Given the description of an element on the screen output the (x, y) to click on. 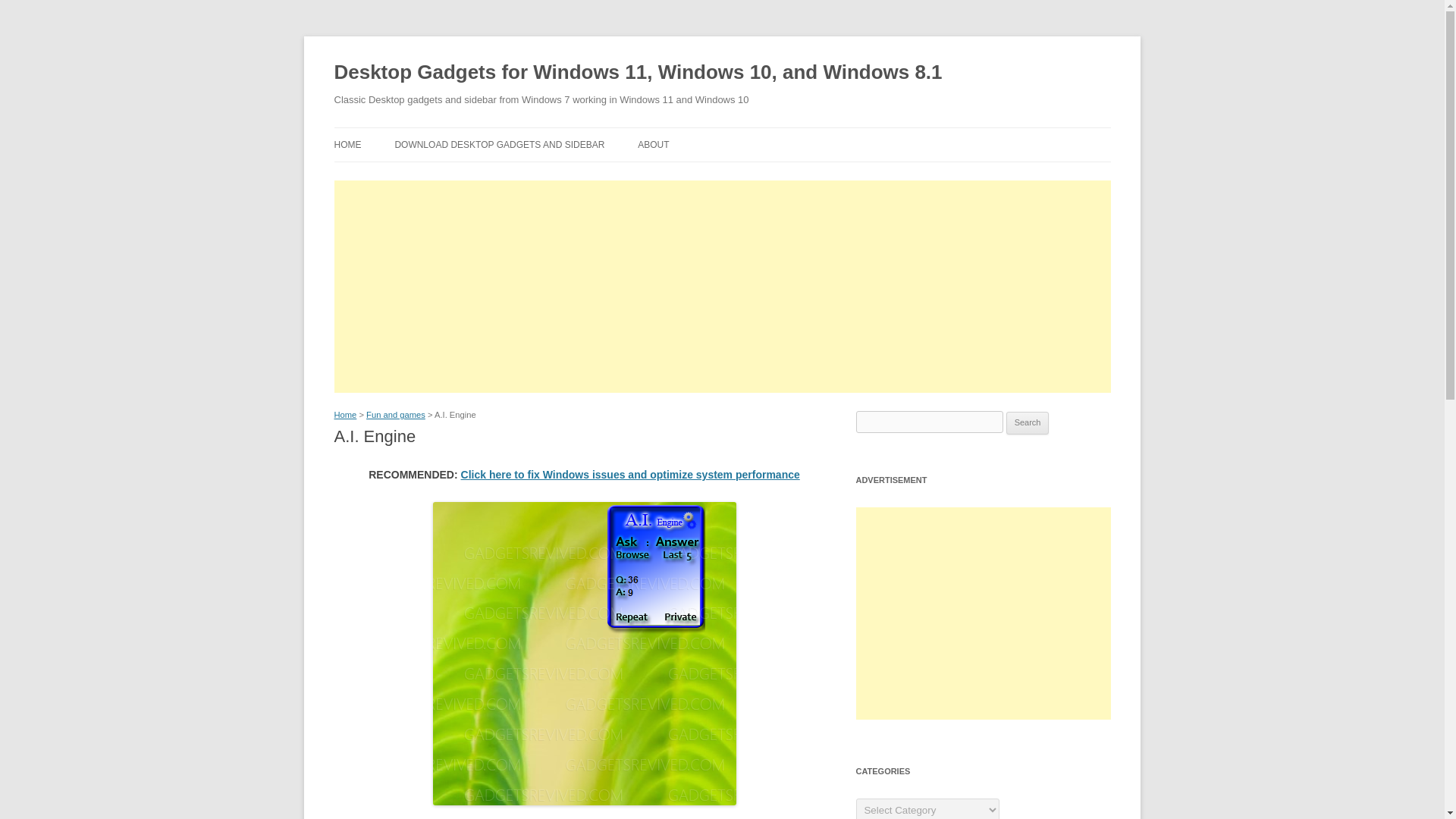
Desktop Gadgets for Windows 11, Windows 10, and Windows 8.1 (637, 72)
Advertisement (982, 612)
DOWNLOAD DESKTOP GADGETS AND SIDEBAR (499, 144)
Search (1027, 422)
Fun and games (395, 414)
Desktop Gadgets for Windows 11, Windows 10, and Windows 8.1 (637, 72)
Home (344, 414)
ABOUT (652, 144)
